Given the description of an element on the screen output the (x, y) to click on. 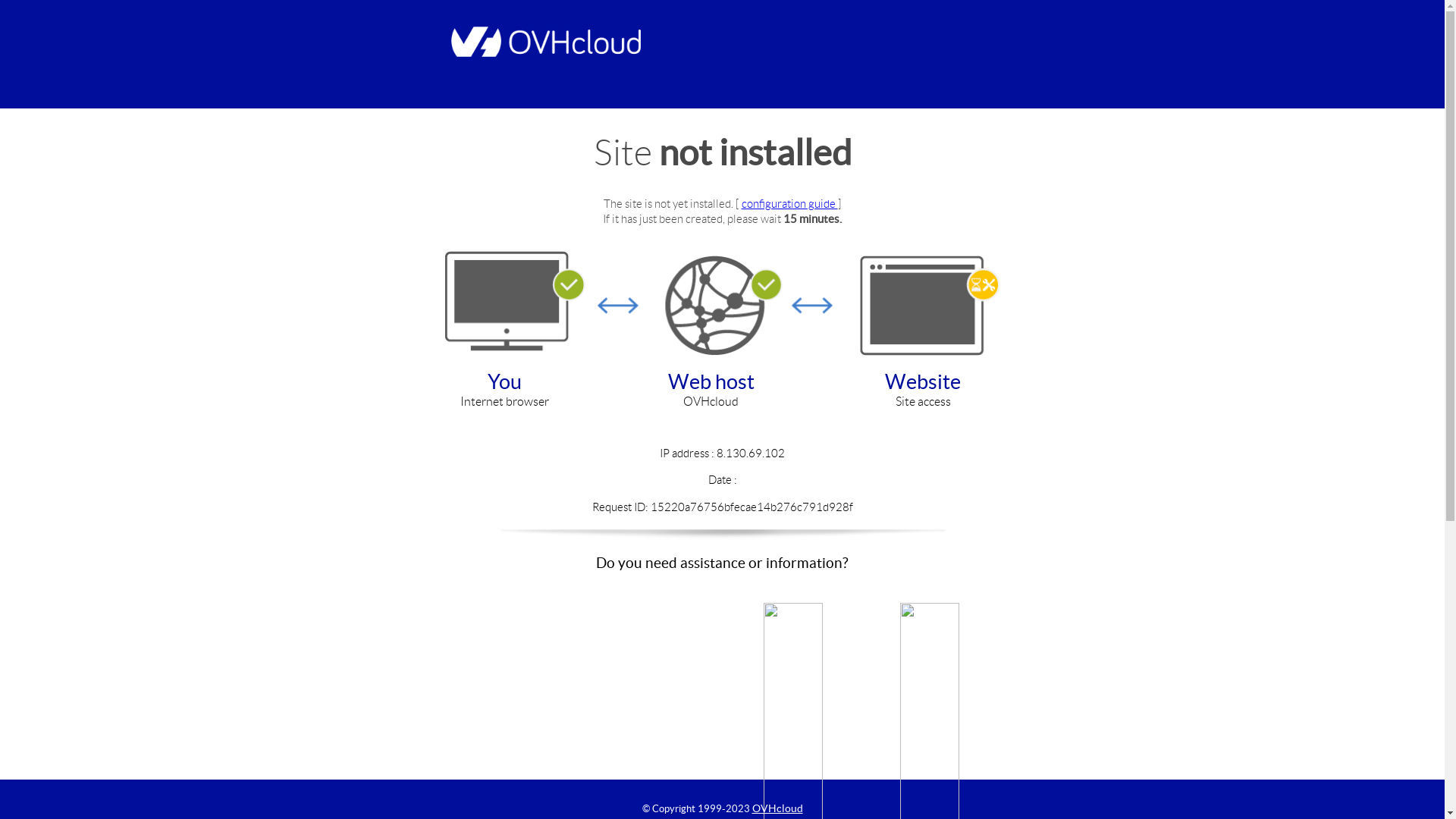
configuration guide Element type: text (789, 203)
OVHcloud Element type: text (777, 808)
